Given the description of an element on the screen output the (x, y) to click on. 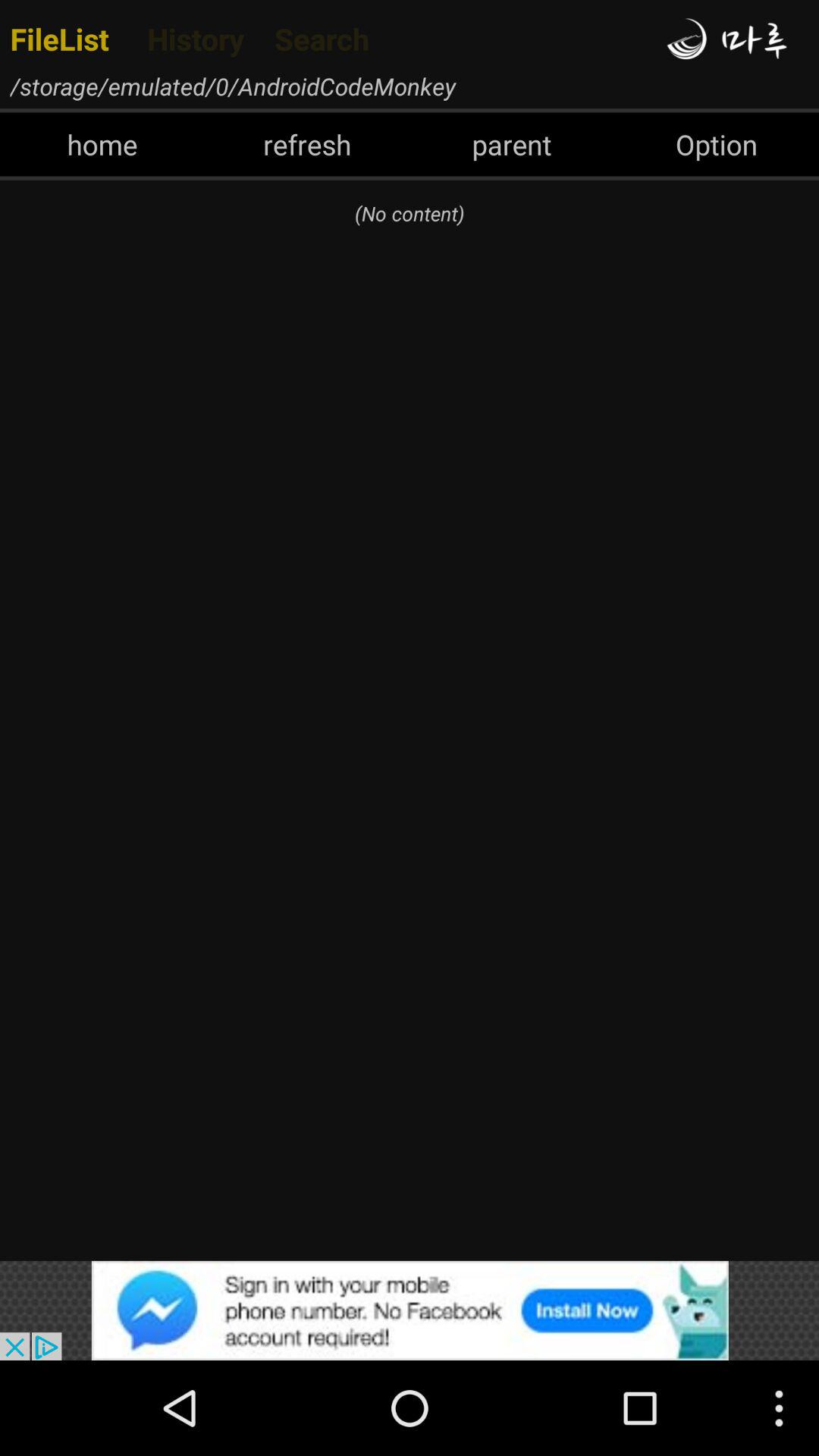
advertisement (409, 1310)
